Given the description of an element on the screen output the (x, y) to click on. 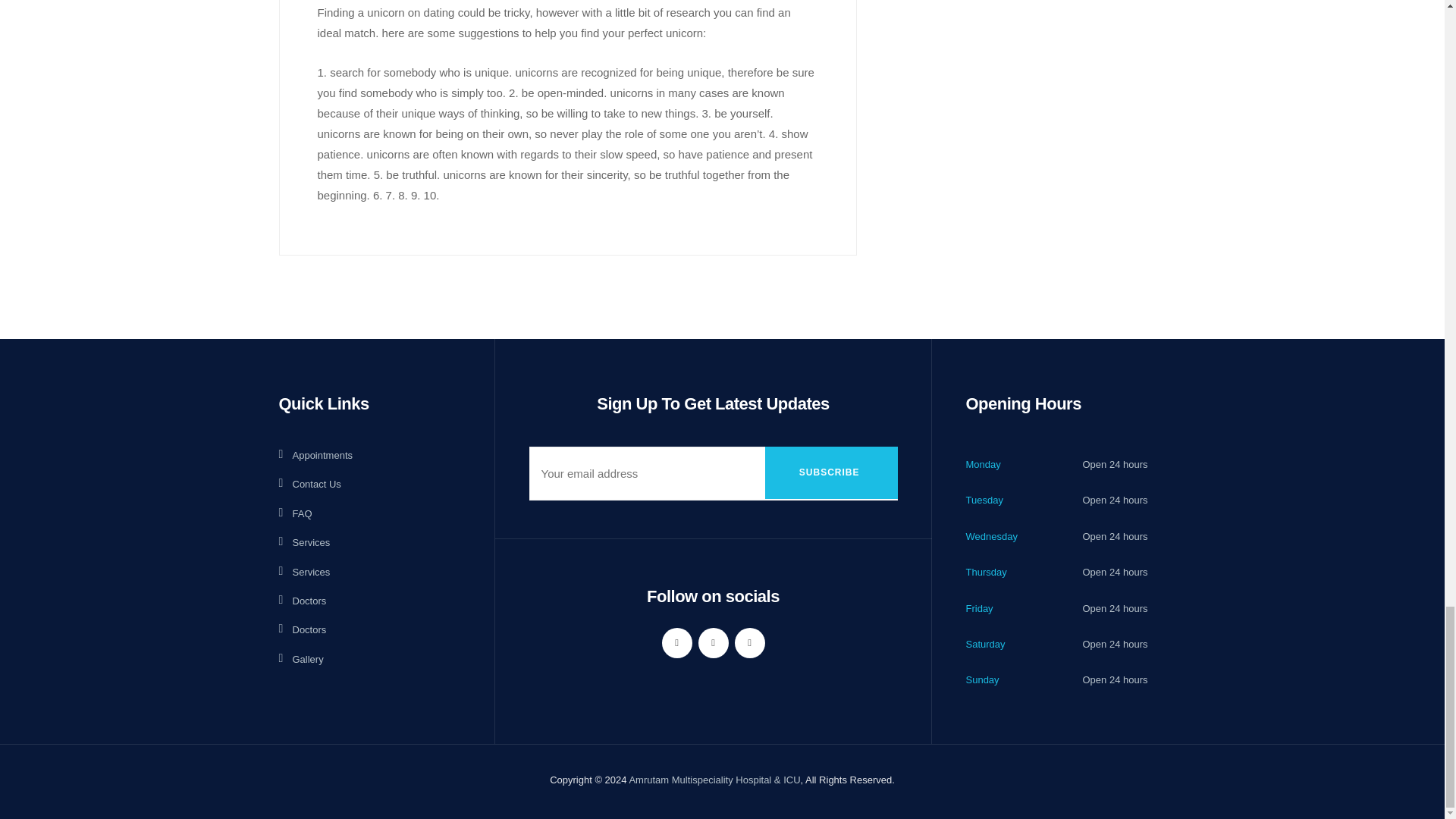
Doctors (302, 629)
FAQ (296, 513)
Appointments (316, 455)
Contact Us (309, 484)
Services (304, 571)
Doctors (302, 600)
Services (304, 542)
Gallery (301, 659)
